Given the description of an element on the screen output the (x, y) to click on. 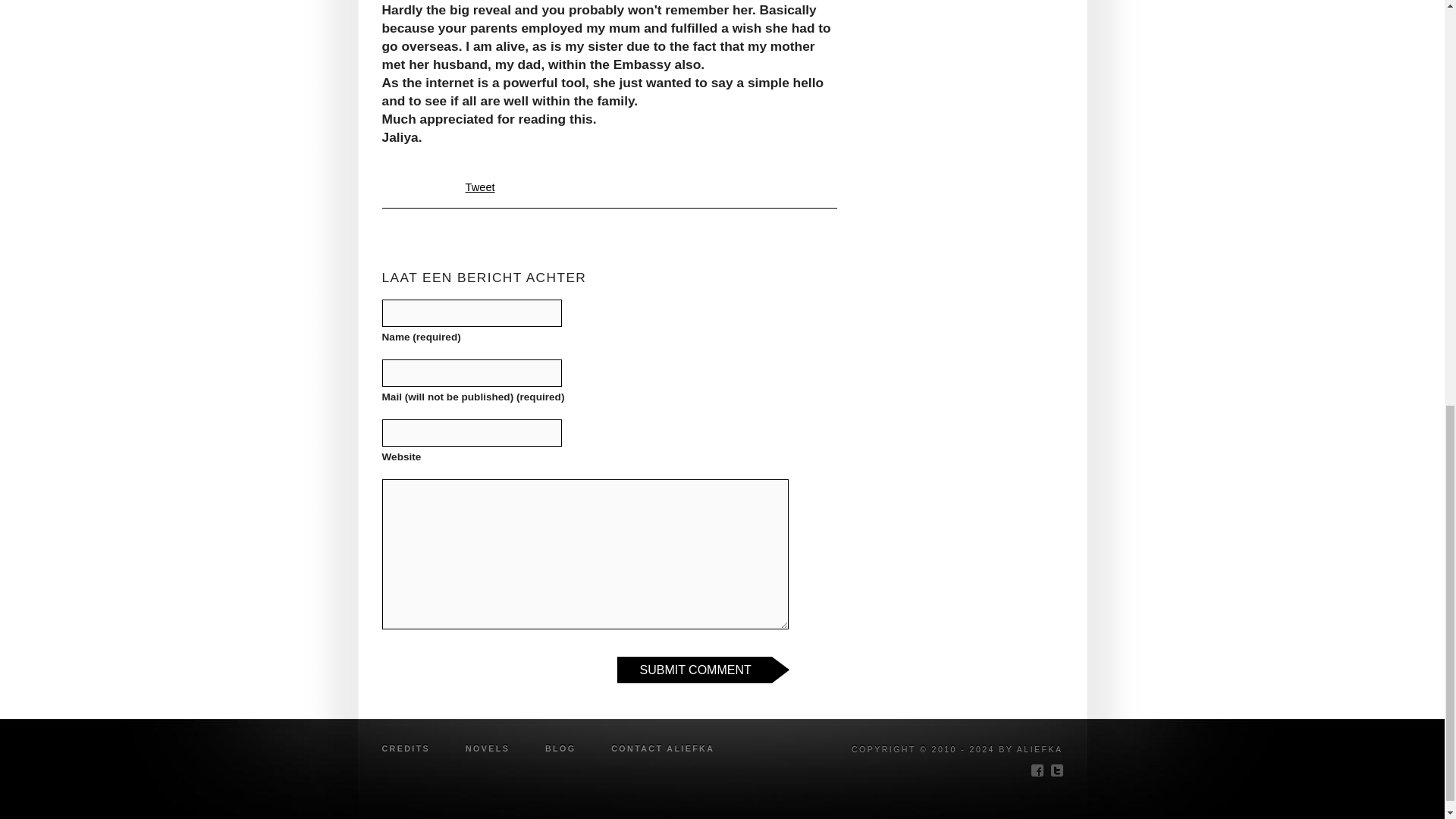
Tweet (480, 186)
SUBMIT COMMENT (703, 669)
